Given the description of an element on the screen output the (x, y) to click on. 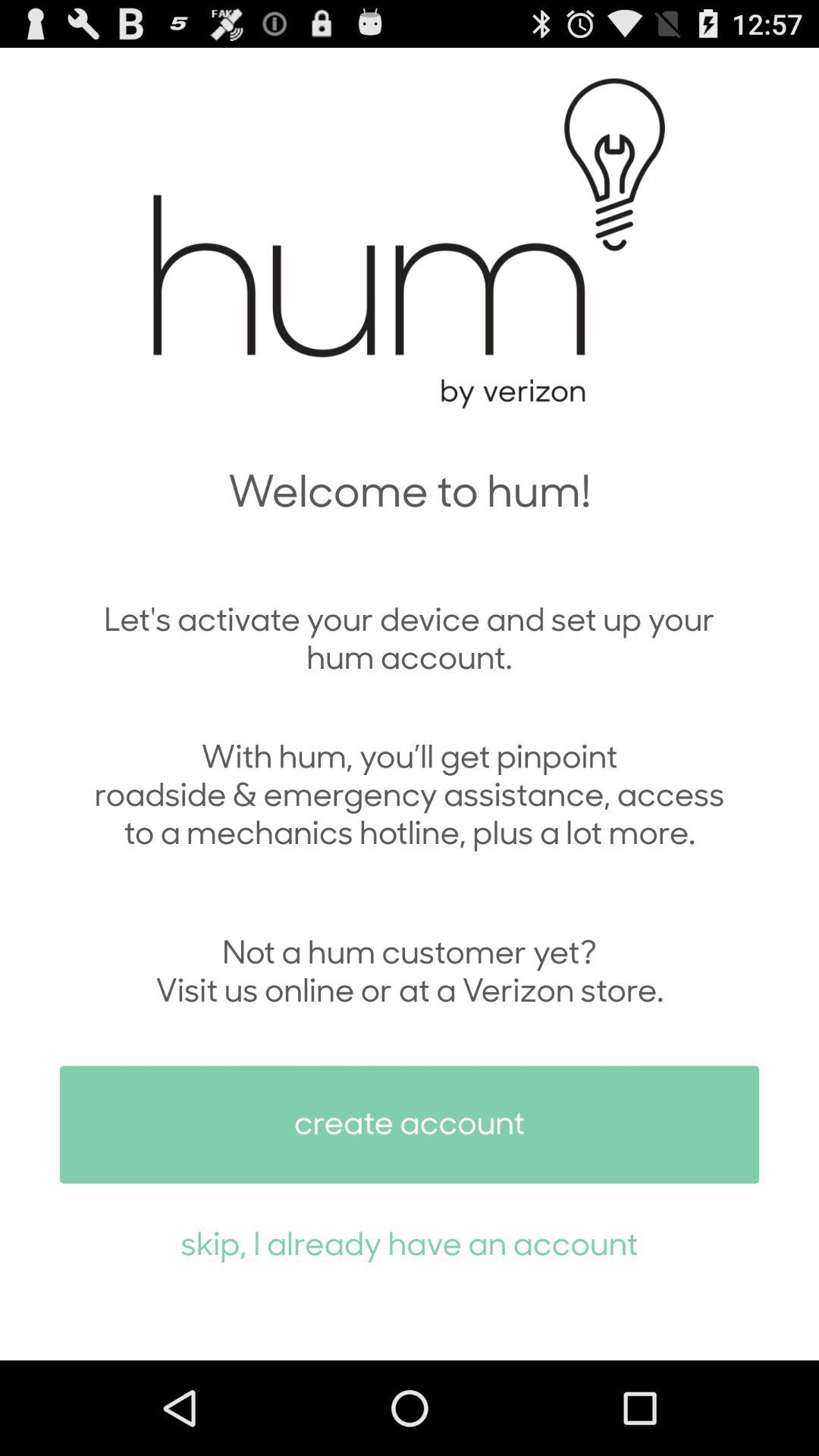
press icon below the create account icon (409, 1242)
